Given the description of an element on the screen output the (x, y) to click on. 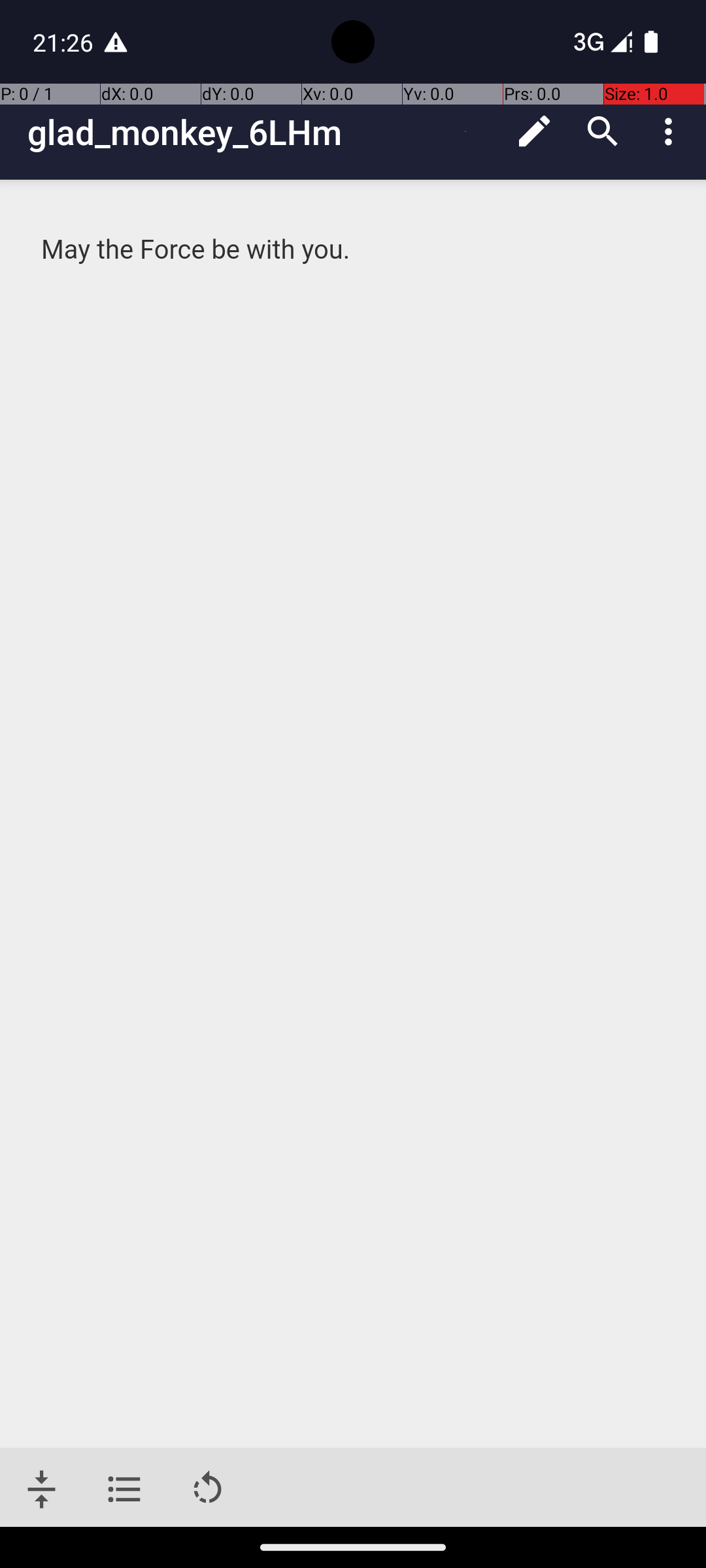
glad_monkey_6LHm Element type: android.widget.TextView (263, 131)
Edit mode Element type: android.widget.TextView (534, 131)
Jump to bottom Element type: android.widget.ImageView (41, 1488)
Table of contents Element type: android.widget.ImageView (124, 1488)
Rotate Element type: android.widget.ImageView (207, 1488)
May the Force be with you. Element type: android.widget.TextView (354, 249)
21:26 Element type: android.widget.TextView (64, 41)
